Given the description of an element on the screen output the (x, y) to click on. 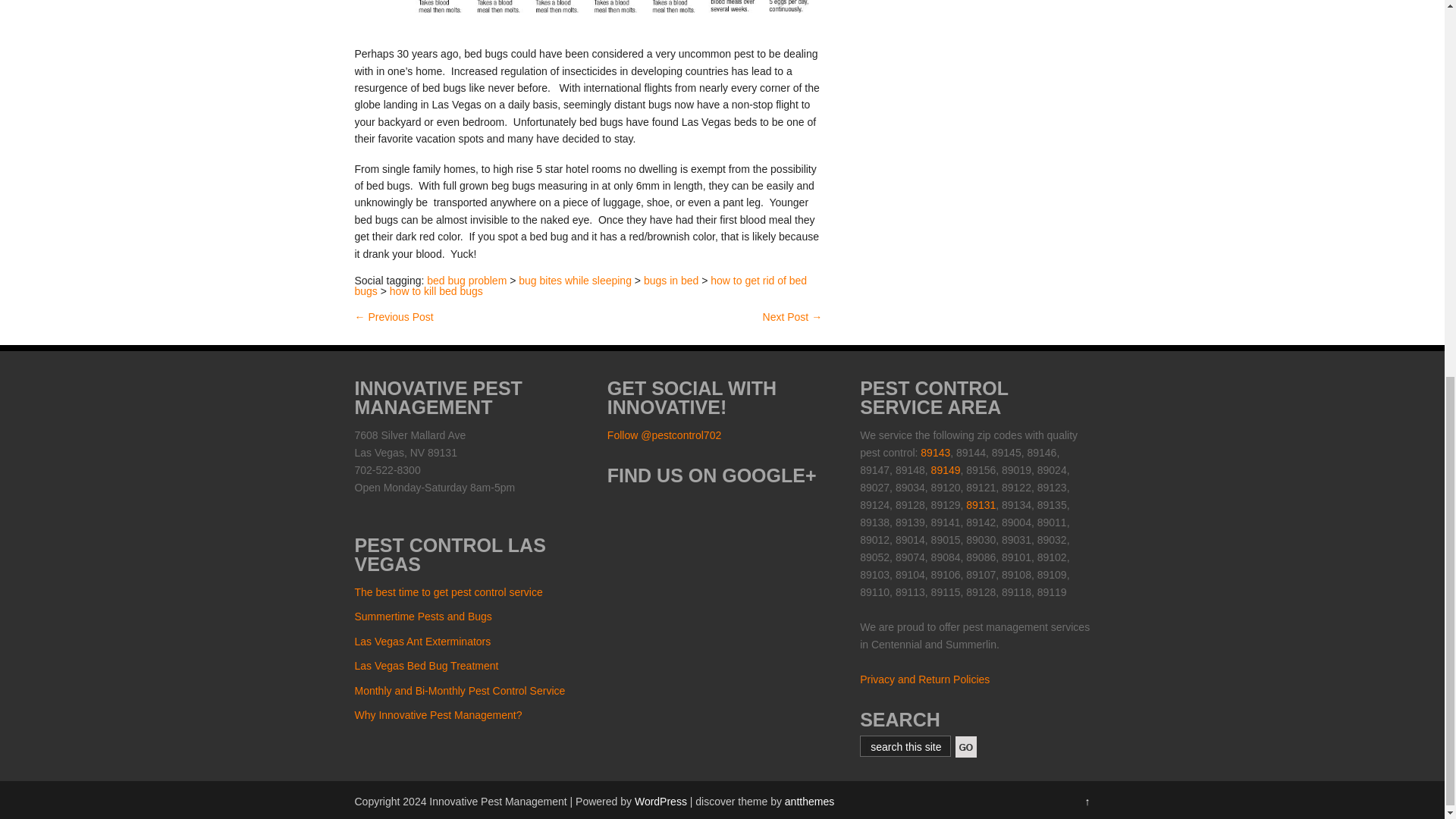
89143 (935, 452)
Las Vegas Ant Exterminators (423, 641)
89131 (980, 504)
bugs in bed (670, 280)
89149 (945, 469)
WordPress (660, 801)
Why Innovative Pest Management? (438, 715)
search this site (907, 746)
The best time to get pest control service (449, 592)
Privacy and Return Policies (925, 679)
